Given the description of an element on the screen output the (x, y) to click on. 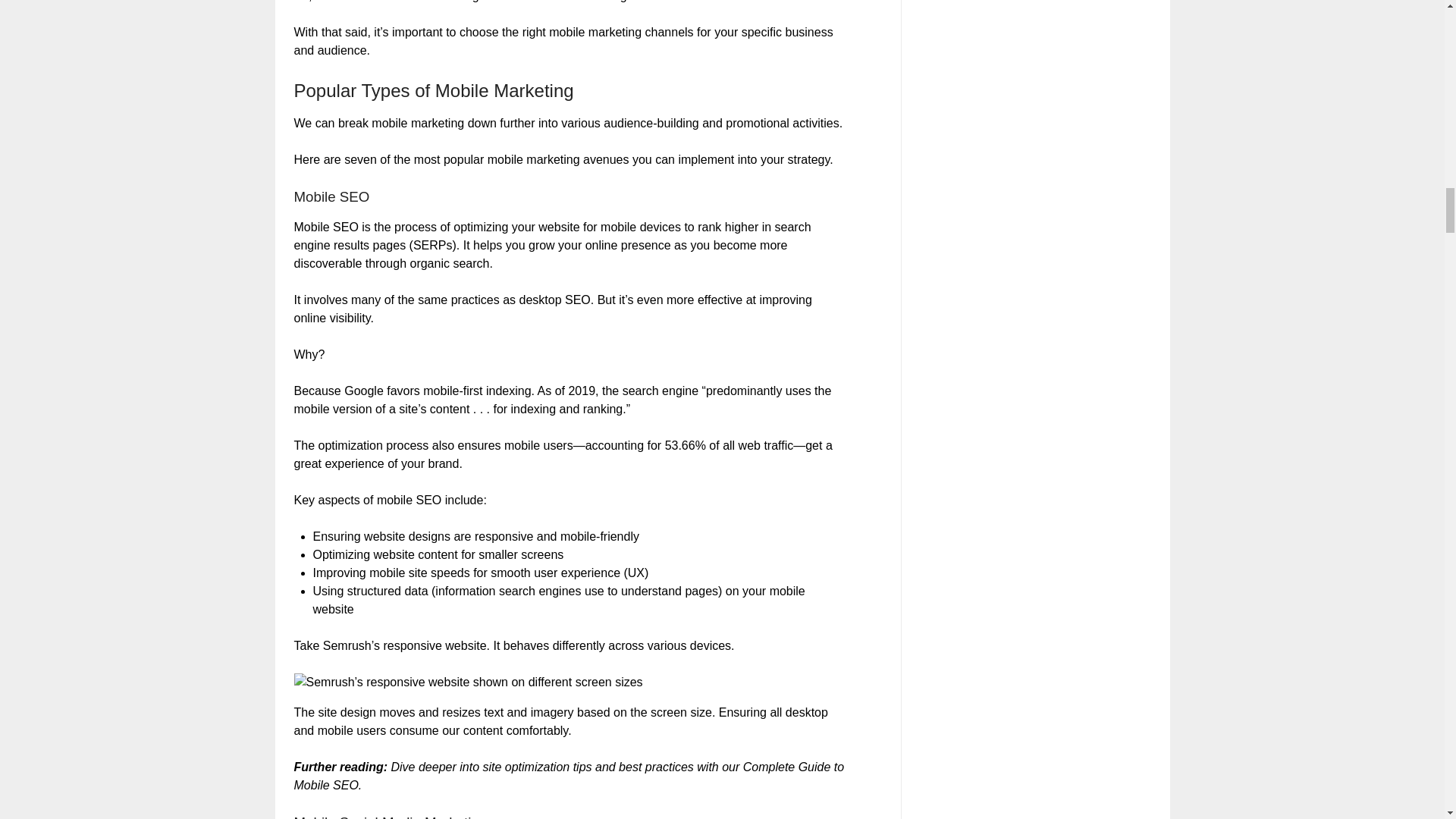
mobile-first indexing (477, 390)
